Given the description of an element on the screen output the (x, y) to click on. 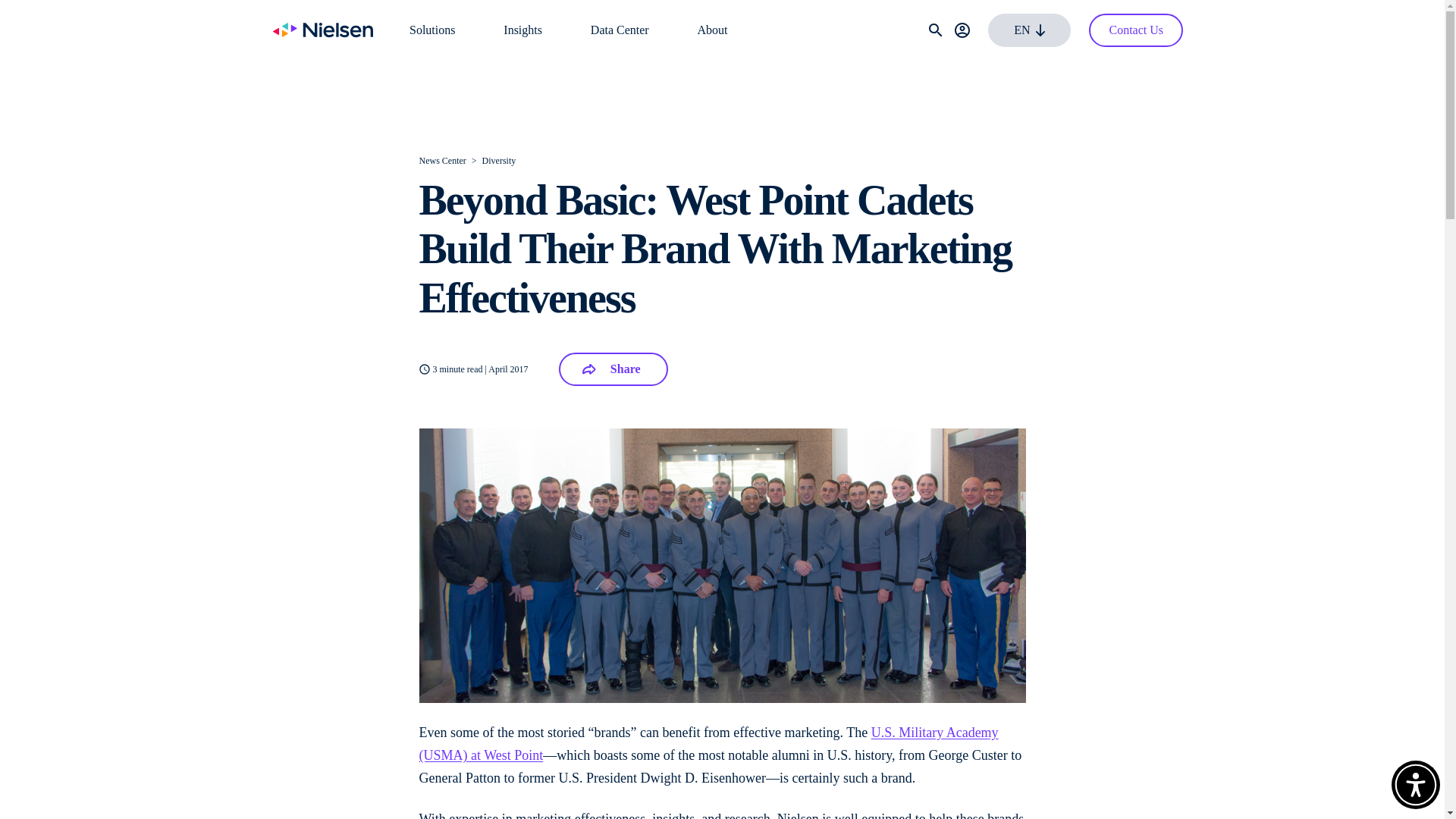
Solutions (431, 29)
Insights (522, 29)
Accessibility Menu (1415, 784)
